Given the description of an element on the screen output the (x, y) to click on. 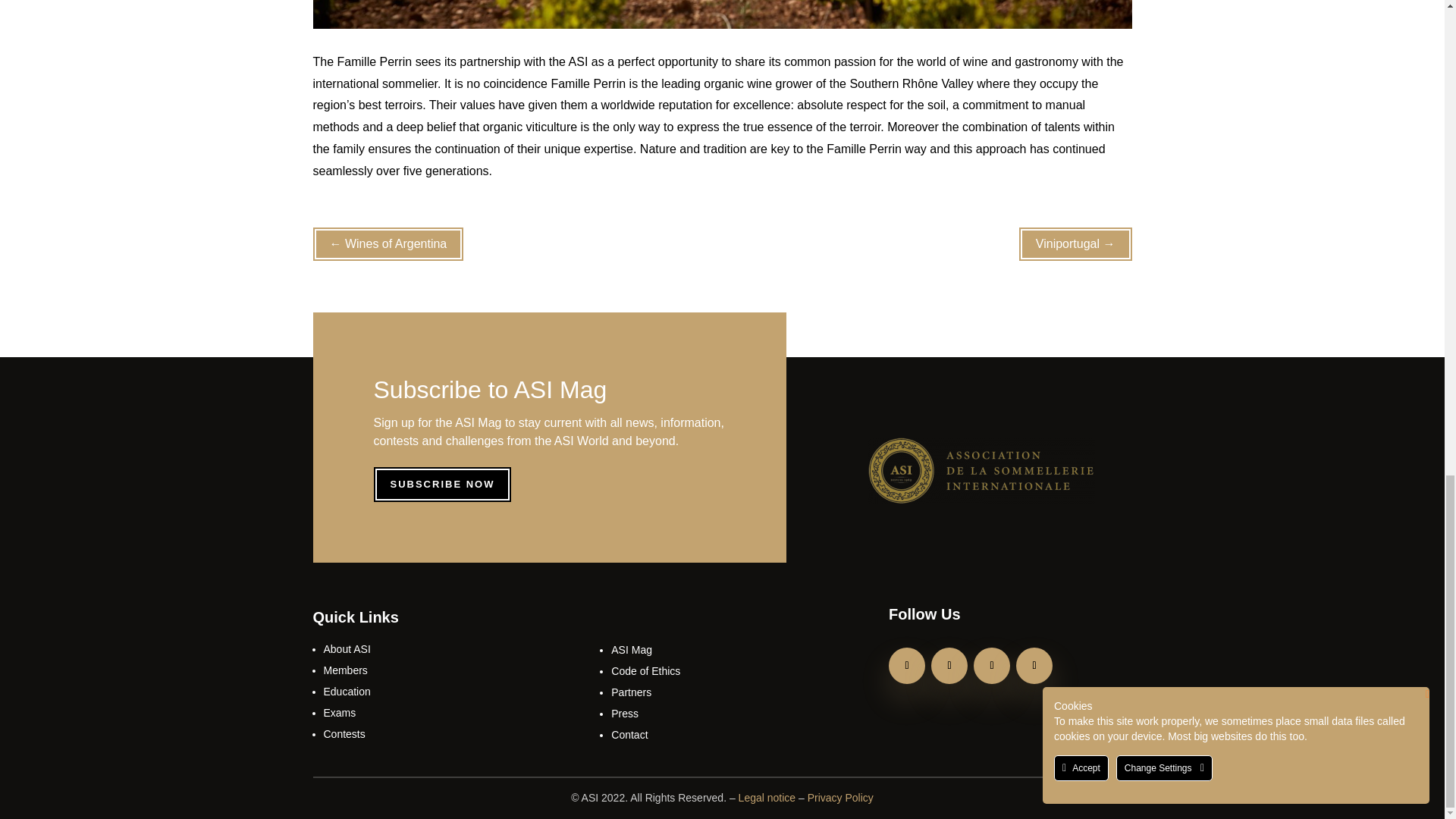
Exams (339, 712)
Members (344, 670)
Education (346, 691)
About ASI (346, 648)
